Given the description of an element on the screen output the (x, y) to click on. 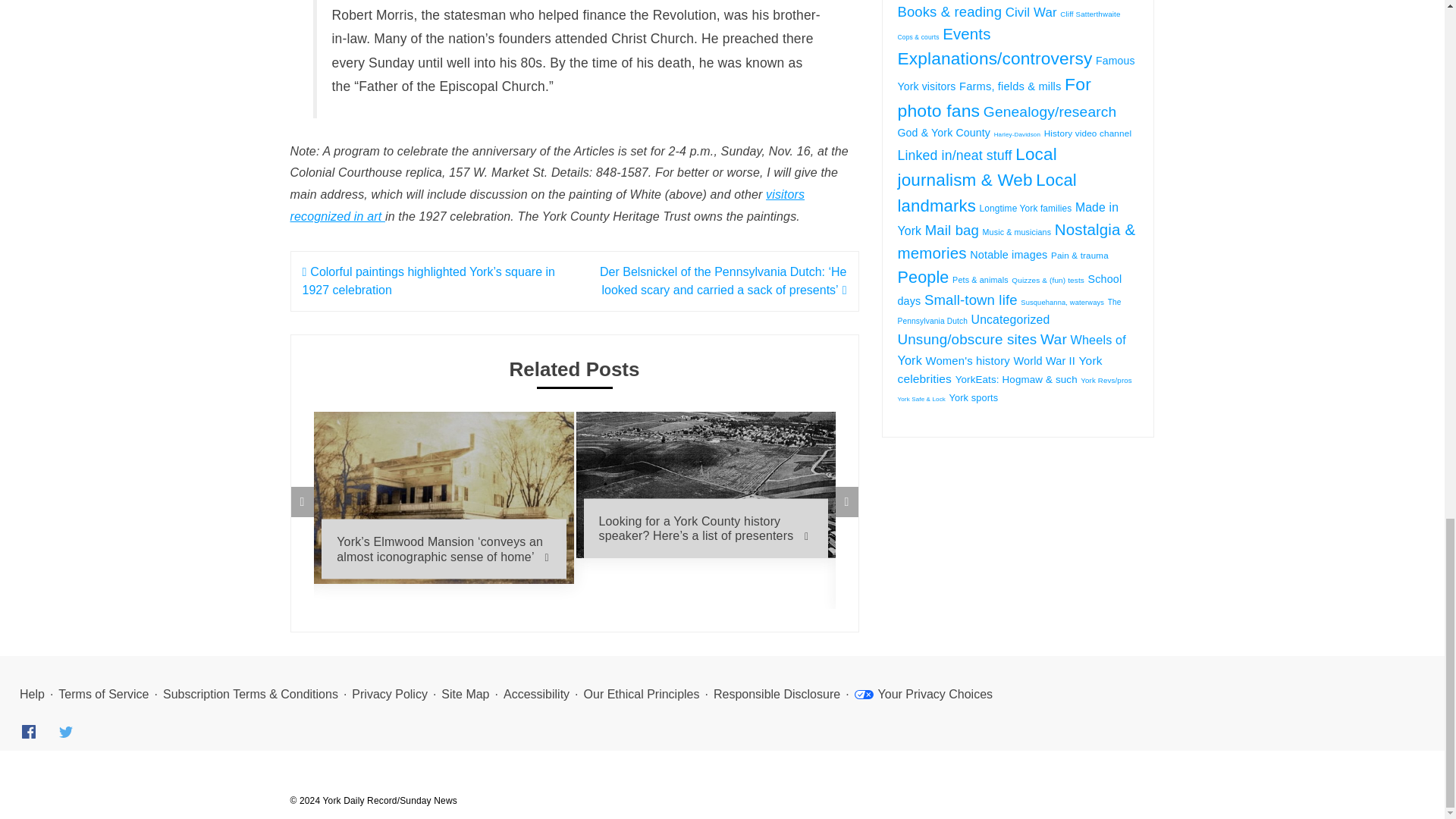
visitors recognized in art (547, 205)
